Given the description of an element on the screen output the (x, y) to click on. 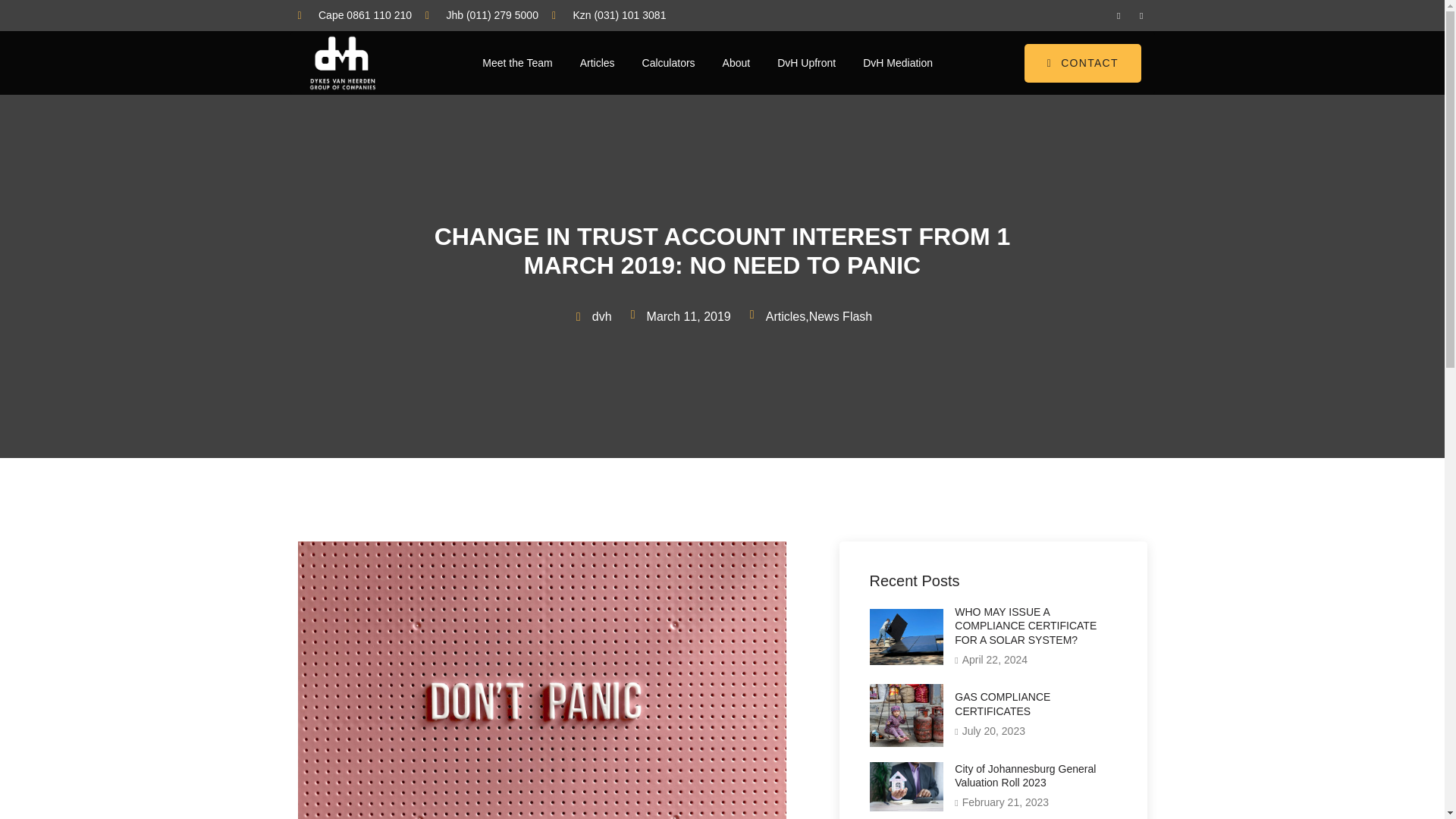
Meet the Team (517, 63)
Articles (597, 63)
DvH Mediation (897, 63)
Cape 0861 110 210 (354, 15)
DvH Upfront (805, 63)
Calculators (668, 63)
